Given the description of an element on the screen output the (x, y) to click on. 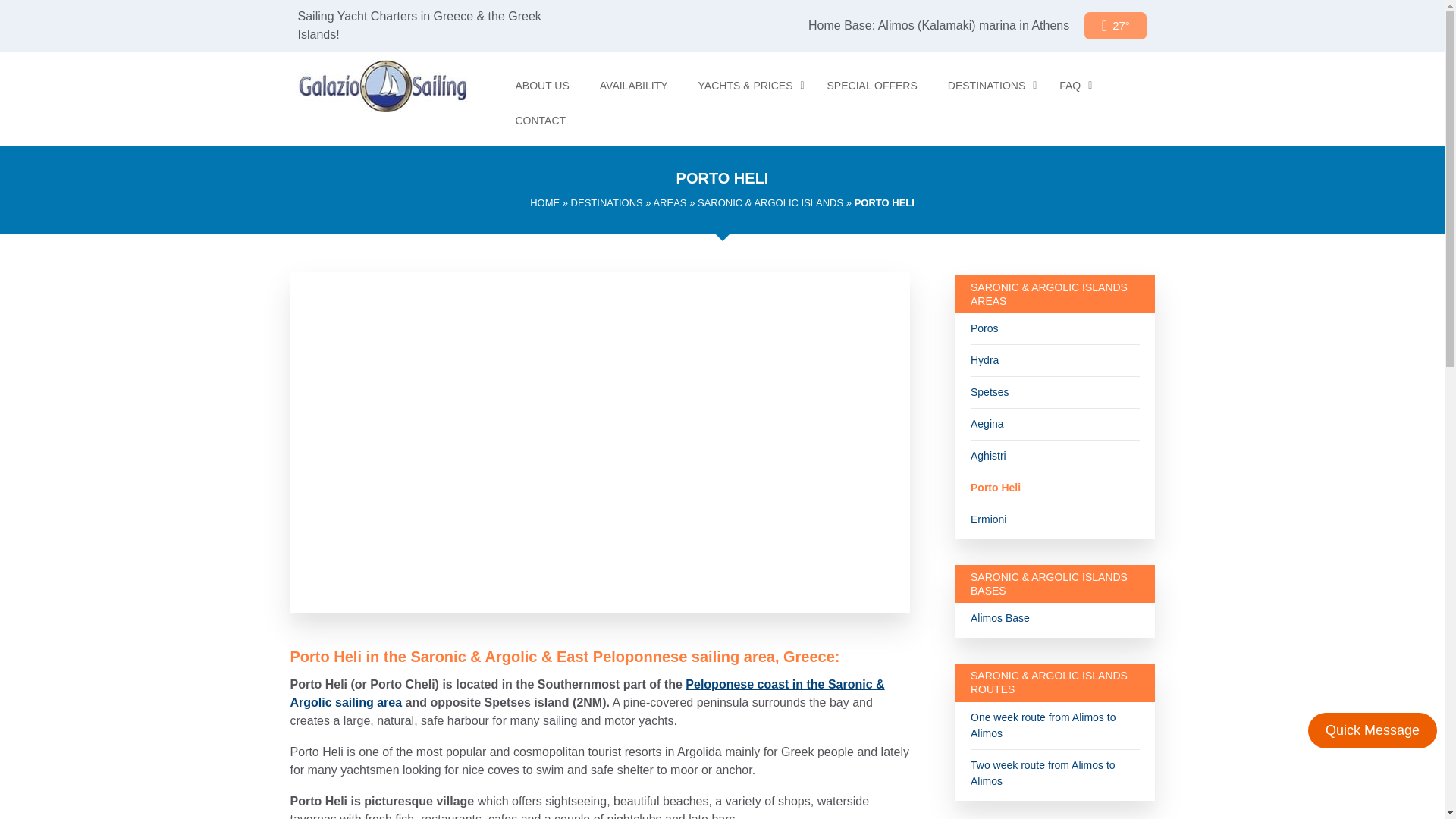
DESTINATIONS (988, 85)
ABOUT US (541, 85)
FAQ (1071, 85)
AVAILABILITY (633, 85)
SPECIAL OFFERS (872, 85)
few clouds (1115, 25)
